Given the description of an element on the screen output the (x, y) to click on. 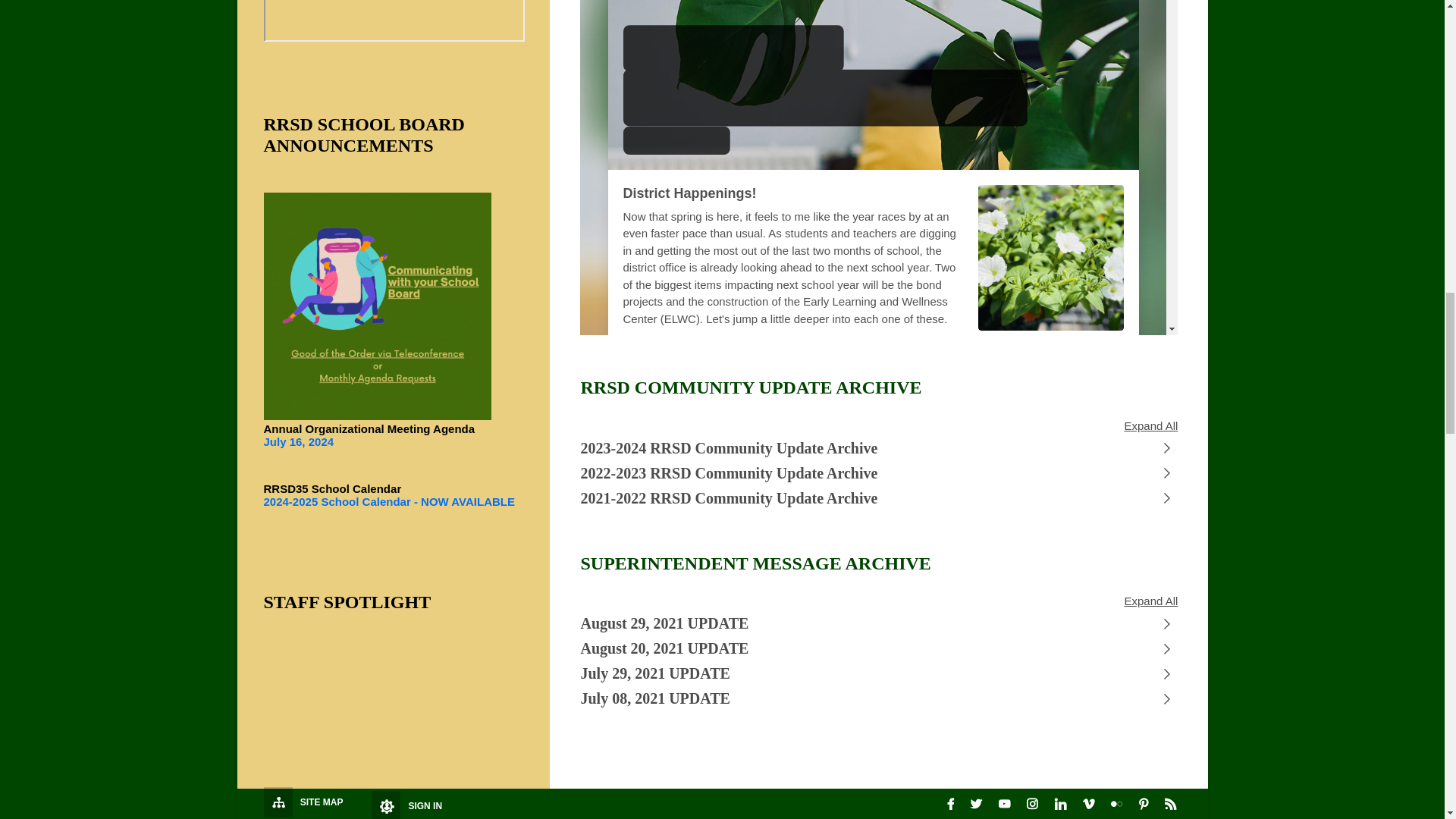
Board Communications (377, 306)
